Given the description of an element on the screen output the (x, y) to click on. 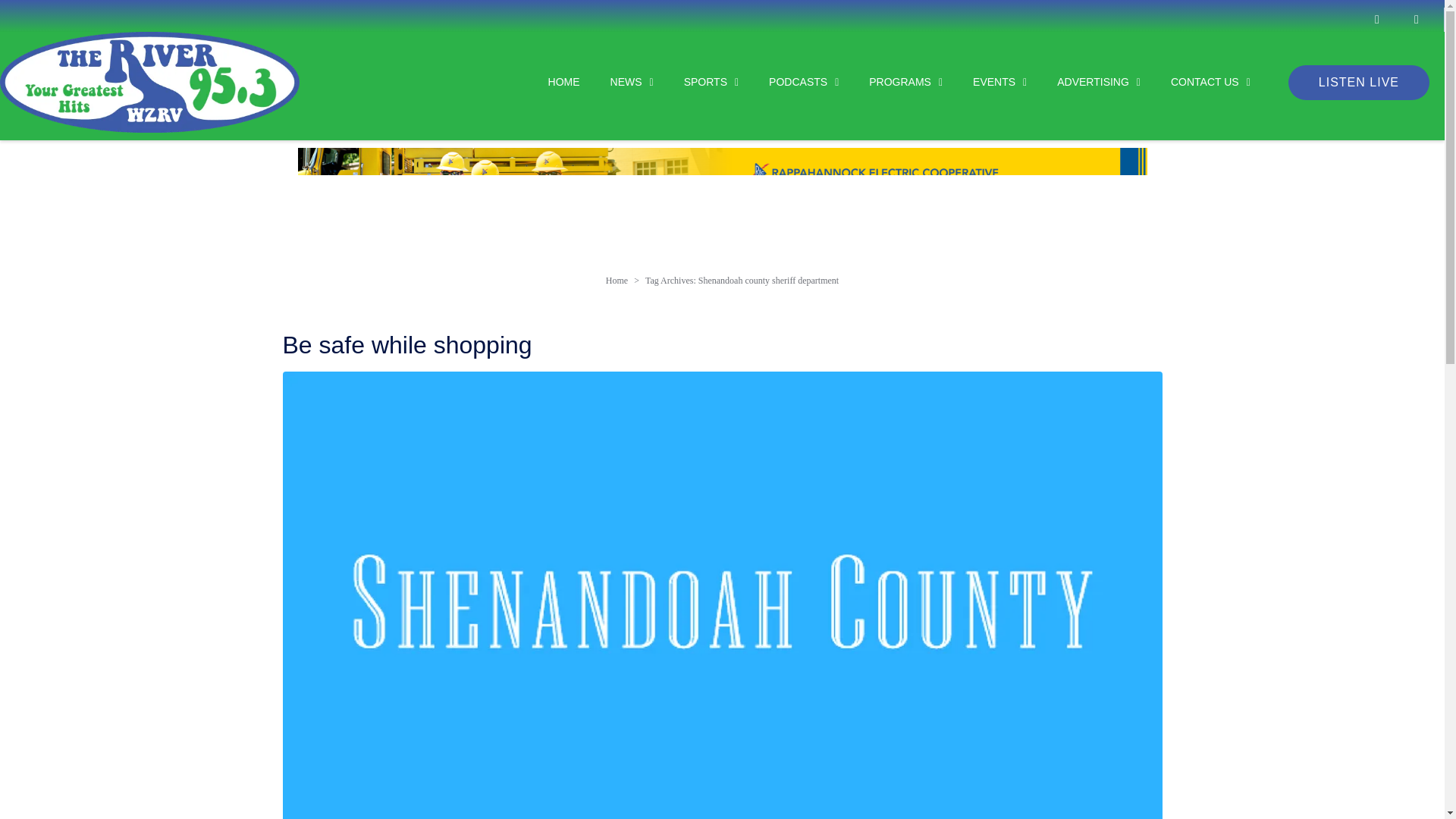
HOME (548, 82)
PROGRAMS (890, 82)
NEWS (616, 82)
PODCASTS (788, 82)
Be safe while shopping (406, 344)
SPORTS (695, 82)
Be safe while shopping (721, 600)
